Given the description of an element on the screen output the (x, y) to click on. 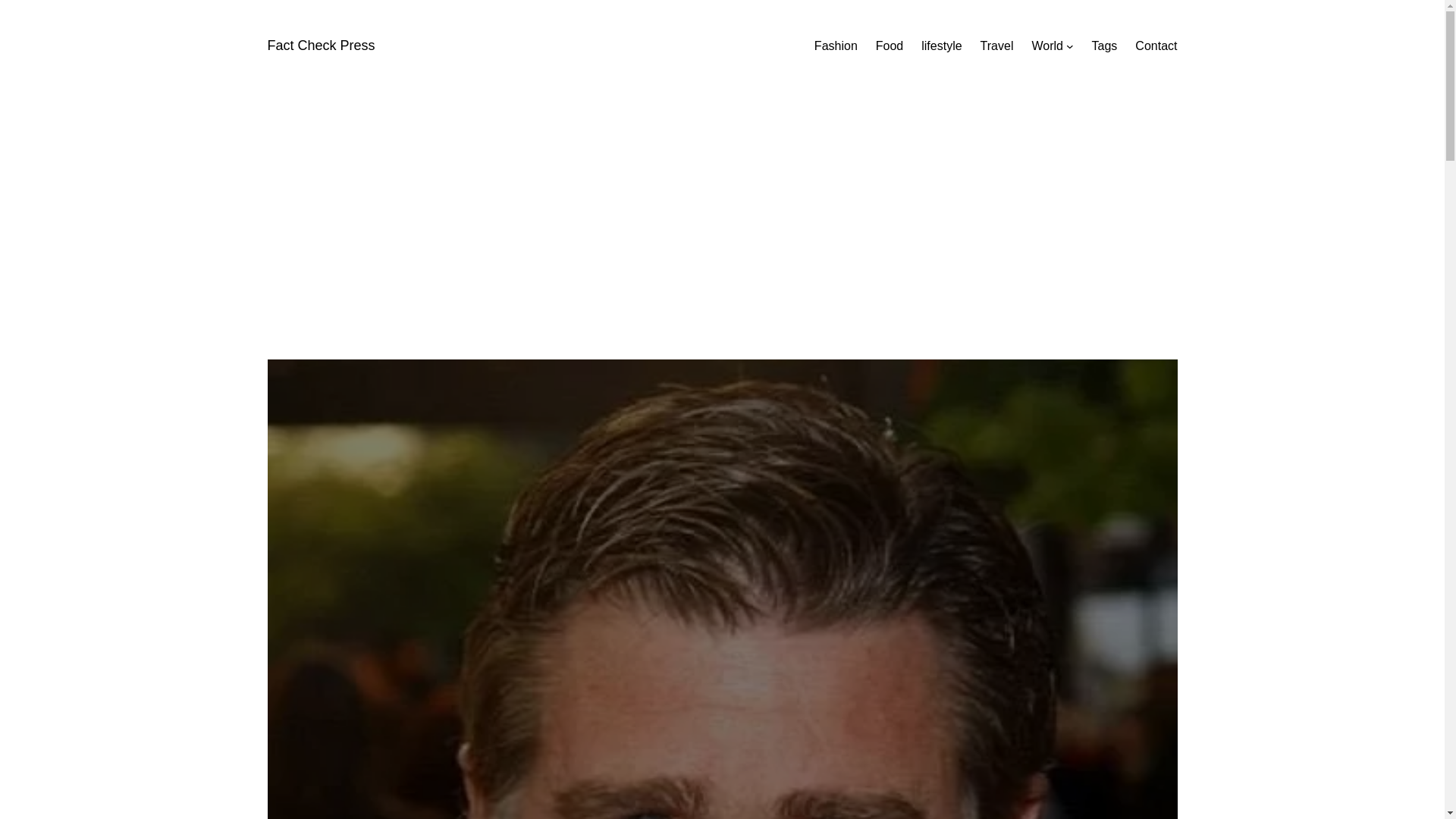
Tags (1105, 46)
Contact (1155, 46)
Fashion (835, 46)
lifestyle (940, 46)
Travel (996, 46)
Fact Check Press (320, 45)
Food (889, 46)
World (1046, 46)
